Given the description of an element on the screen output the (x, y) to click on. 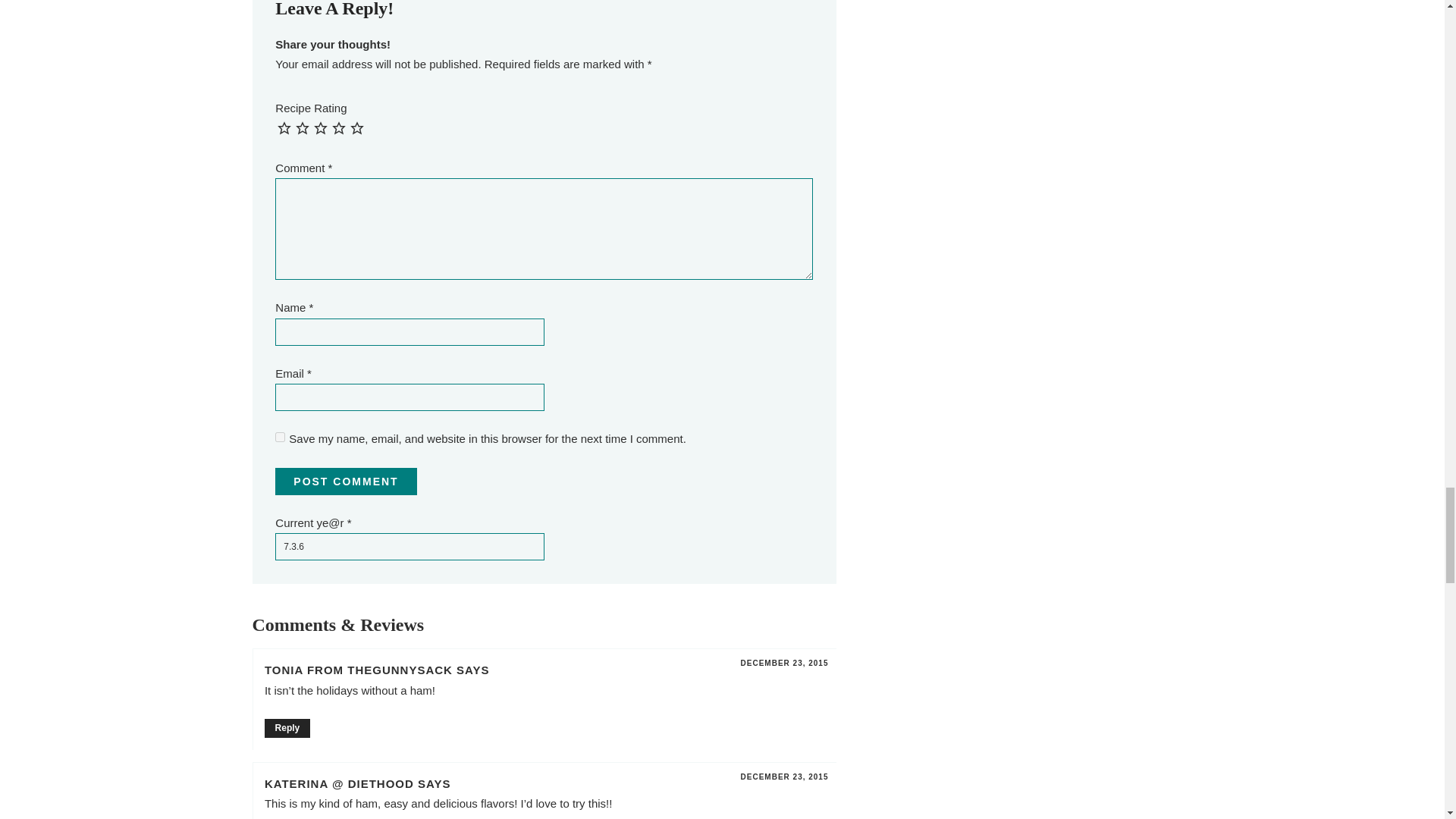
yes (280, 437)
Post Comment (345, 481)
7.3.6 (409, 546)
